Given the description of an element on the screen output the (x, y) to click on. 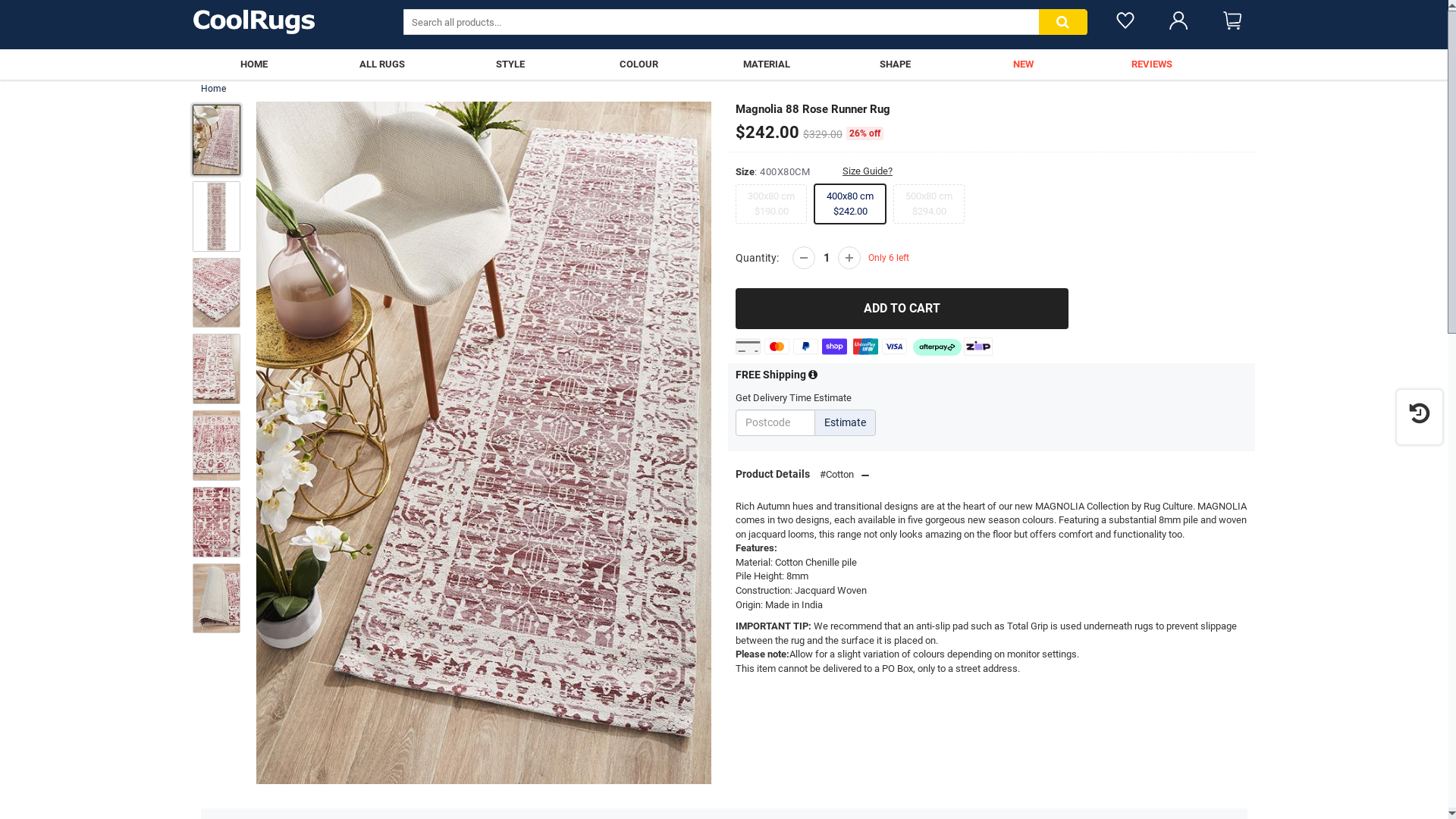
SHAPE Element type: text (895, 64)
FREE Shipping Element type: text (776, 374)
Estimate Element type: text (844, 422)
STYLE Element type: text (509, 64)
Size Guide? Element type: text (855, 170)
REVIEWS Element type: text (1151, 64)
COLOUR Element type: text (638, 64)
Add to Cart Element type: text (901, 308)
Product Details #Cotton Element type: text (796, 473)
ALL RUGS Element type: text (381, 64)
Home Element type: text (212, 88)
HOME Element type: text (253, 64)
MATERIAL Element type: text (766, 64)
NEW Element type: text (1023, 64)
Search Element type: text (1062, 22)
